Given the description of an element on the screen output the (x, y) to click on. 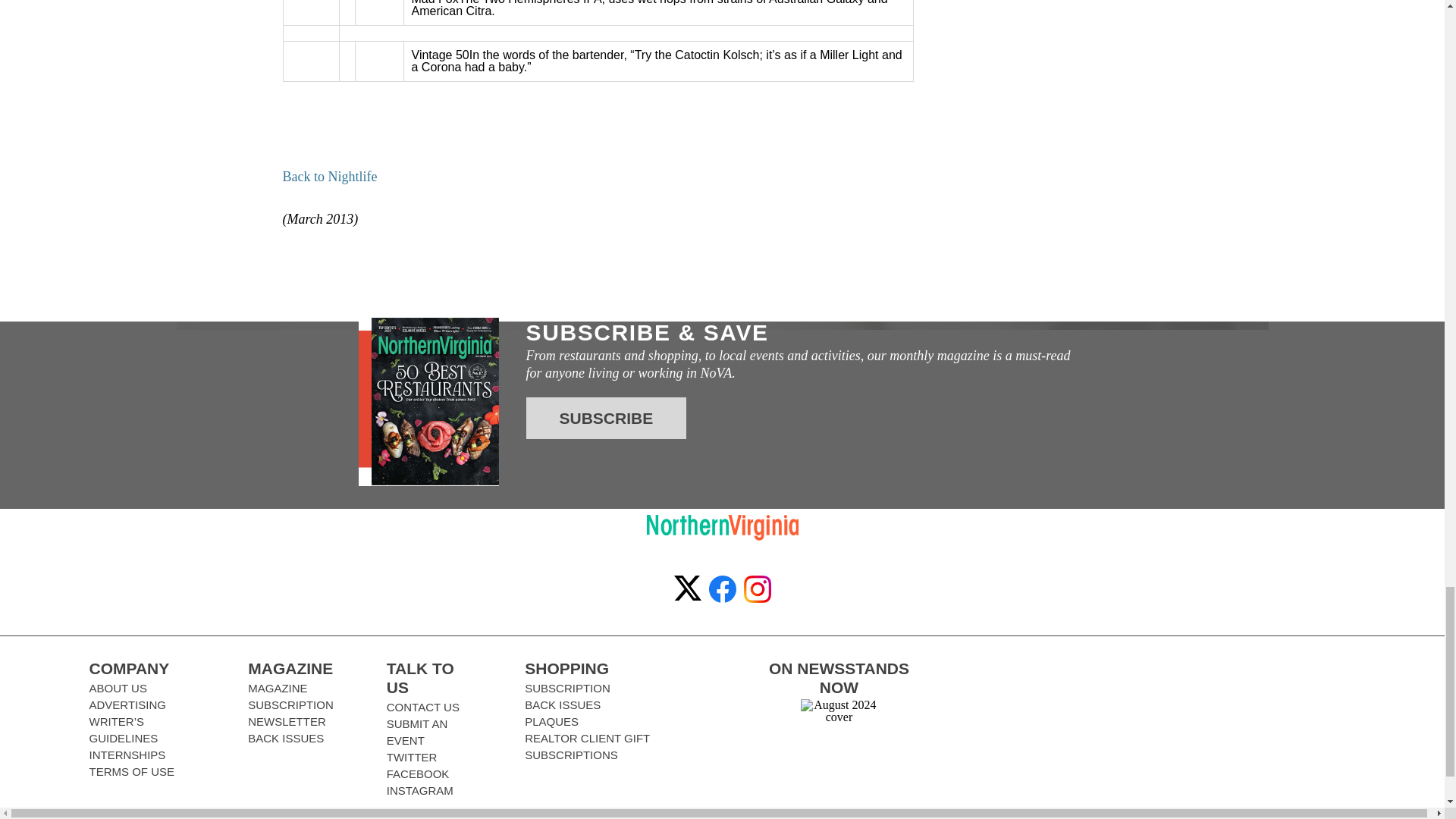
SUBSCRIBE (606, 417)
Back to Nightlife (329, 176)
